Given the description of an element on the screen output the (x, y) to click on. 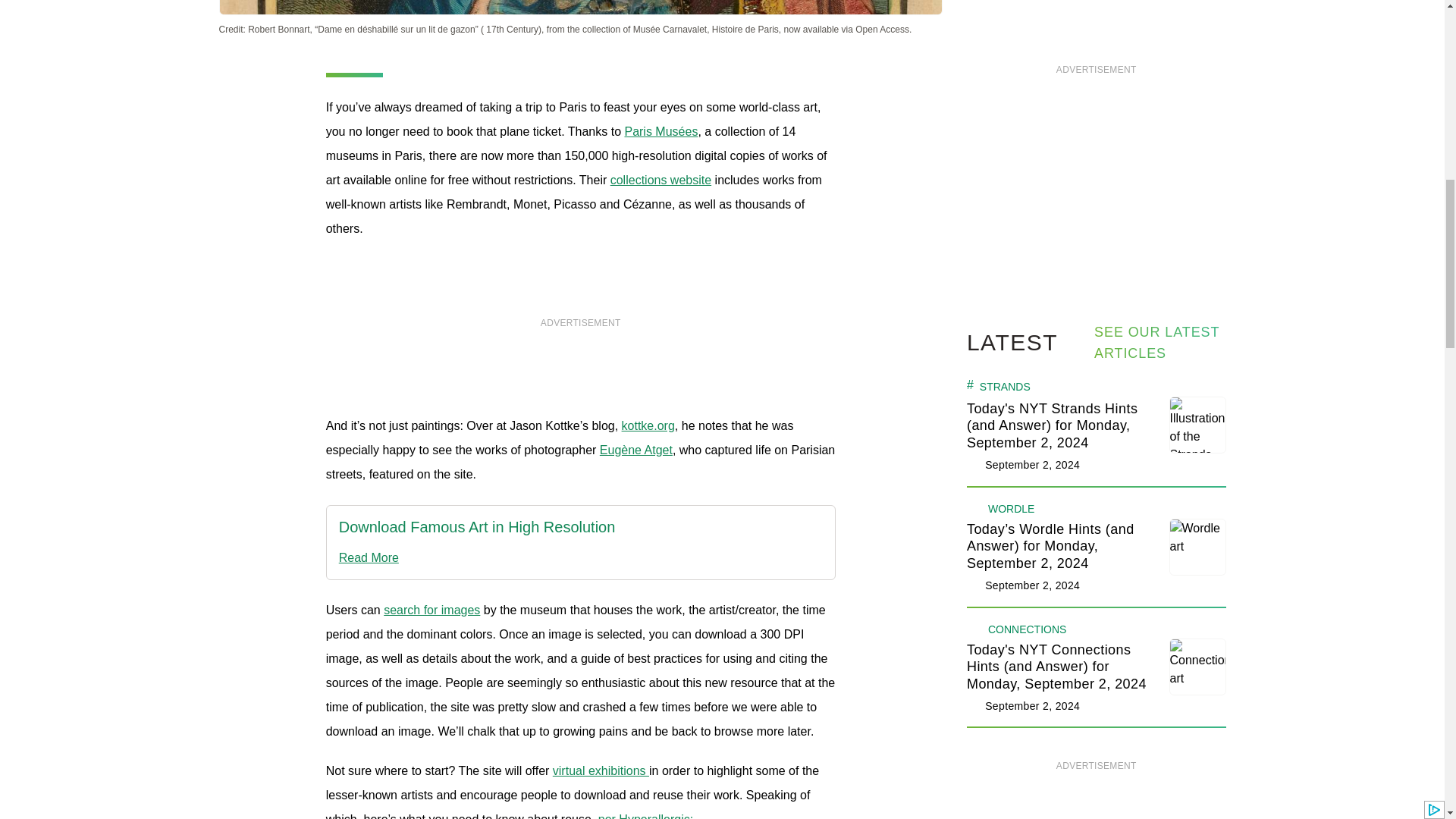
open in a new window (477, 527)
open in a new window (477, 557)
open in a new window (660, 179)
open in a new window (648, 425)
open in a new window (660, 131)
open in a new window (635, 449)
open in a new window (432, 609)
